Given the description of an element on the screen output the (x, y) to click on. 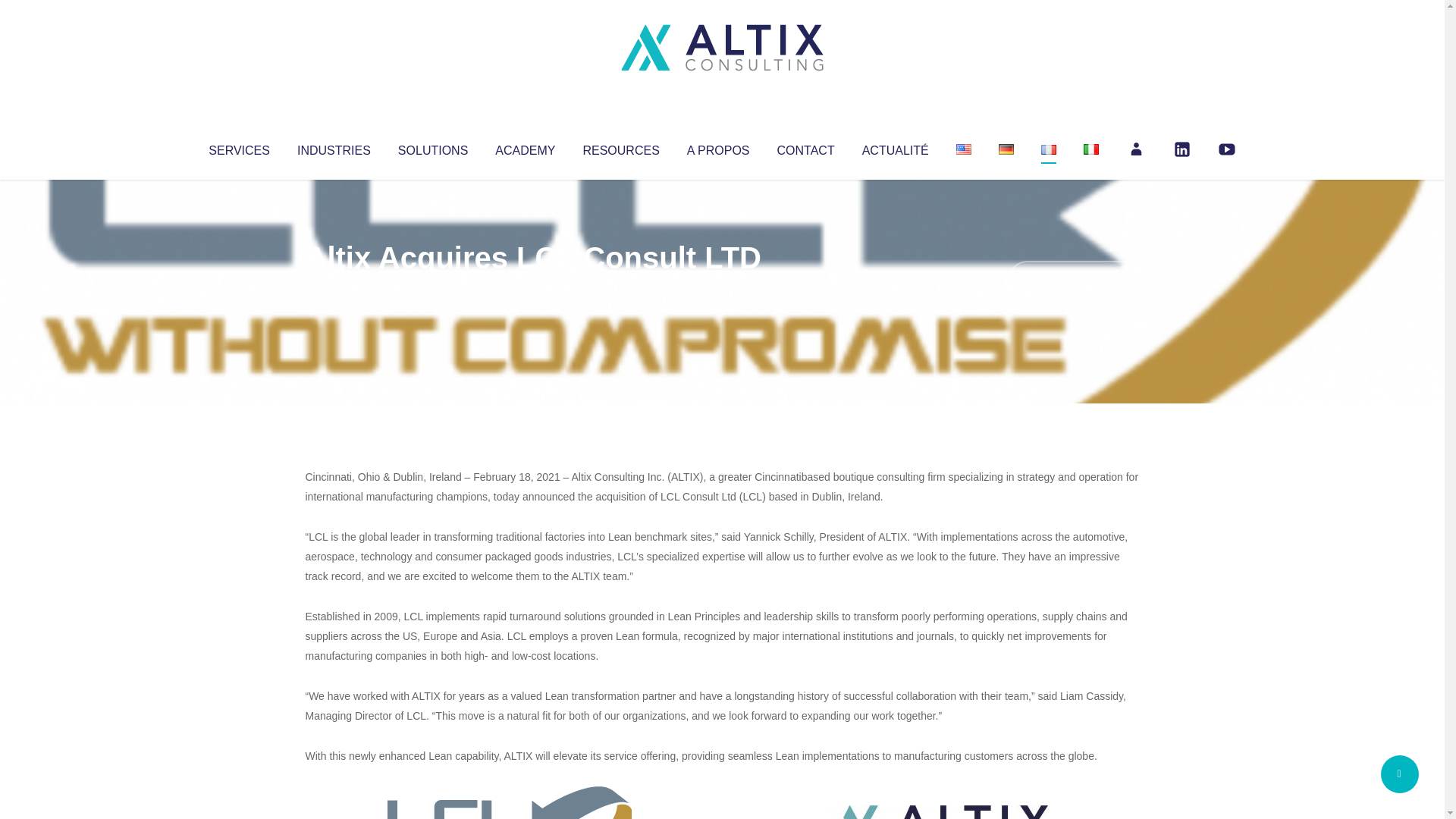
SERVICES (238, 146)
A PROPOS (718, 146)
Altix (333, 287)
Articles par Altix (333, 287)
INDUSTRIES (334, 146)
Uncategorized (530, 287)
SOLUTIONS (432, 146)
ACADEMY (524, 146)
No Comments (1073, 278)
RESOURCES (620, 146)
